Given the description of an element on the screen output the (x, y) to click on. 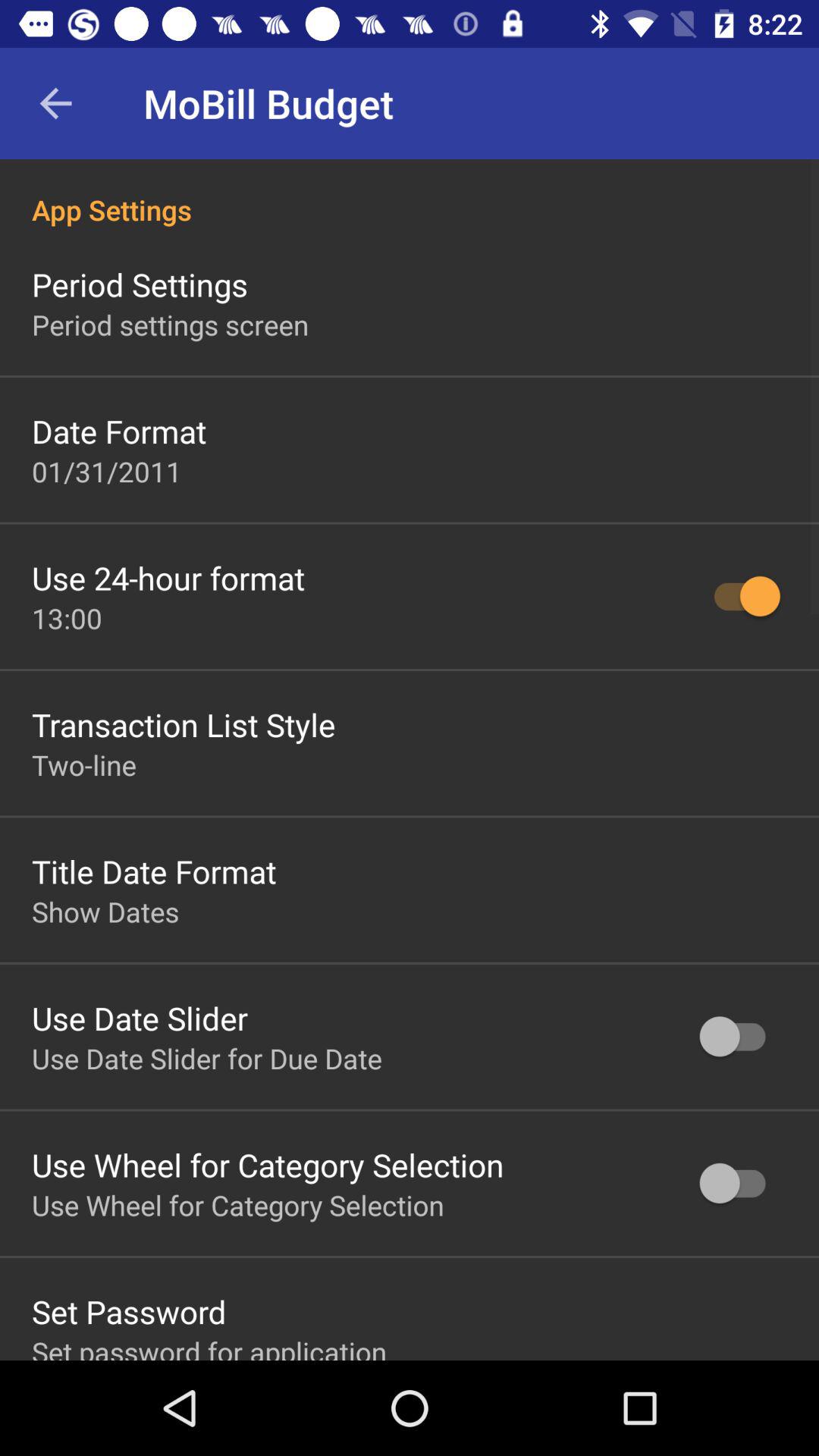
open the app above use date slider icon (105, 911)
